Given the description of an element on the screen output the (x, y) to click on. 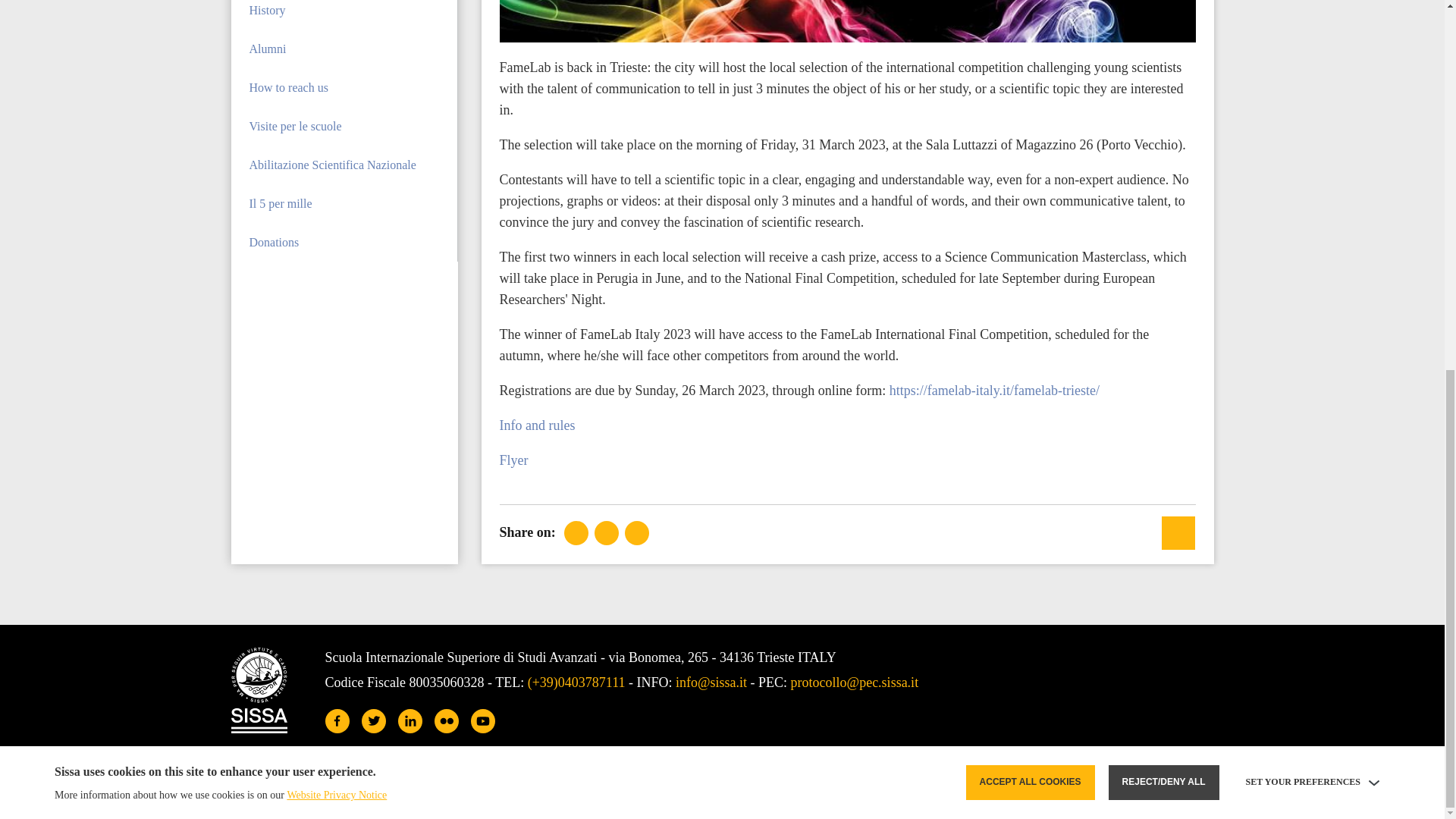
Go to: How to reach us (343, 87)
Go to: Alumni (343, 48)
Go to: History (343, 14)
Go to: Abilitazione Scientifica Nazionale (343, 164)
Go to: Visite per le scuole (343, 126)
